Given the description of an element on the screen output the (x, y) to click on. 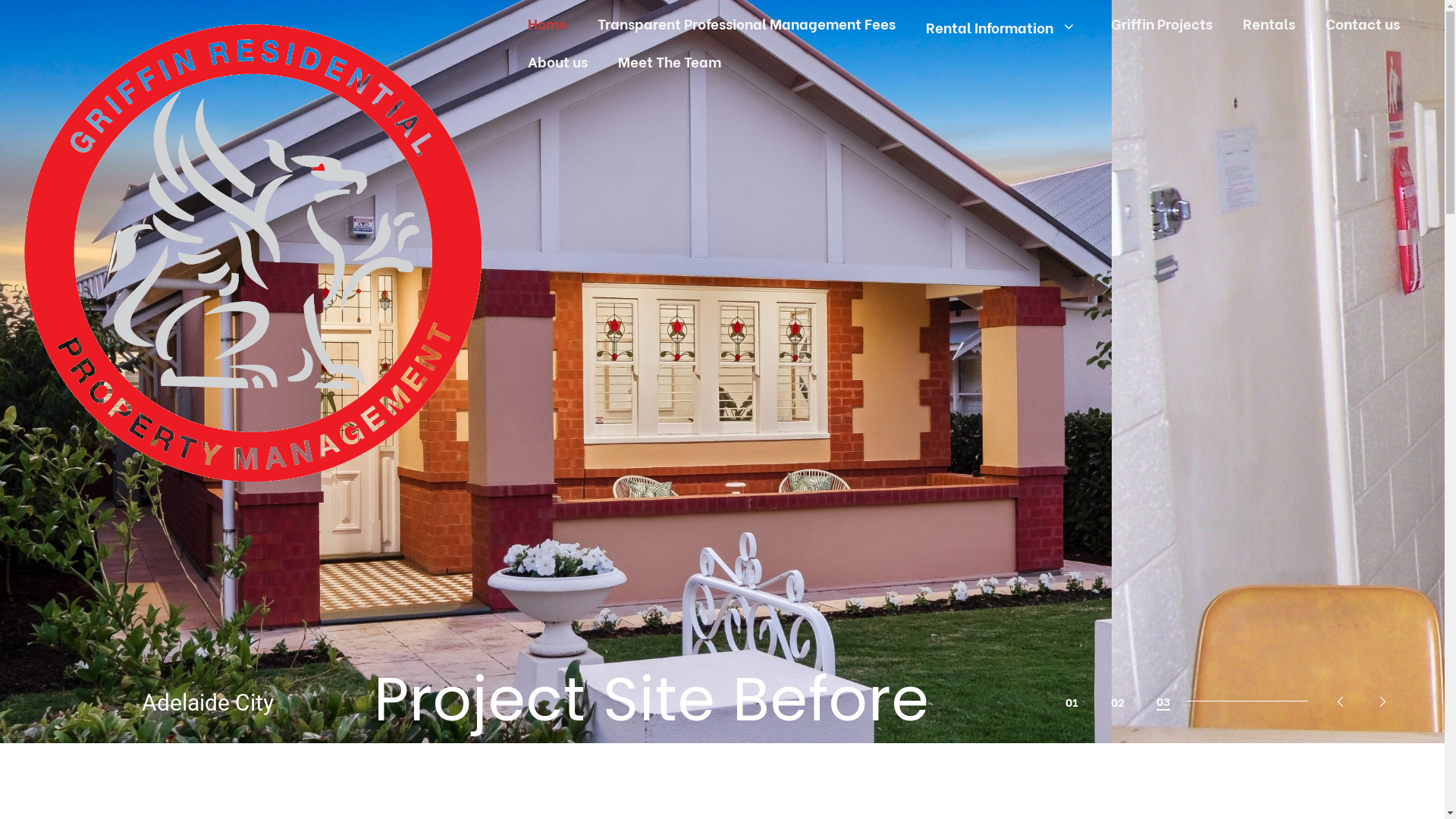
Meet The Team Element type: text (669, 60)
Transparent Professional Management Fees Element type: text (746, 22)
Griffin Projects Element type: text (1161, 22)
Contact us Element type: text (1362, 22)
About us Element type: text (557, 60)
Home Element type: text (547, 22)
Rental Information Element type: text (1002, 26)
Rentals Element type: text (1268, 22)
